Given the description of an element on the screen output the (x, y) to click on. 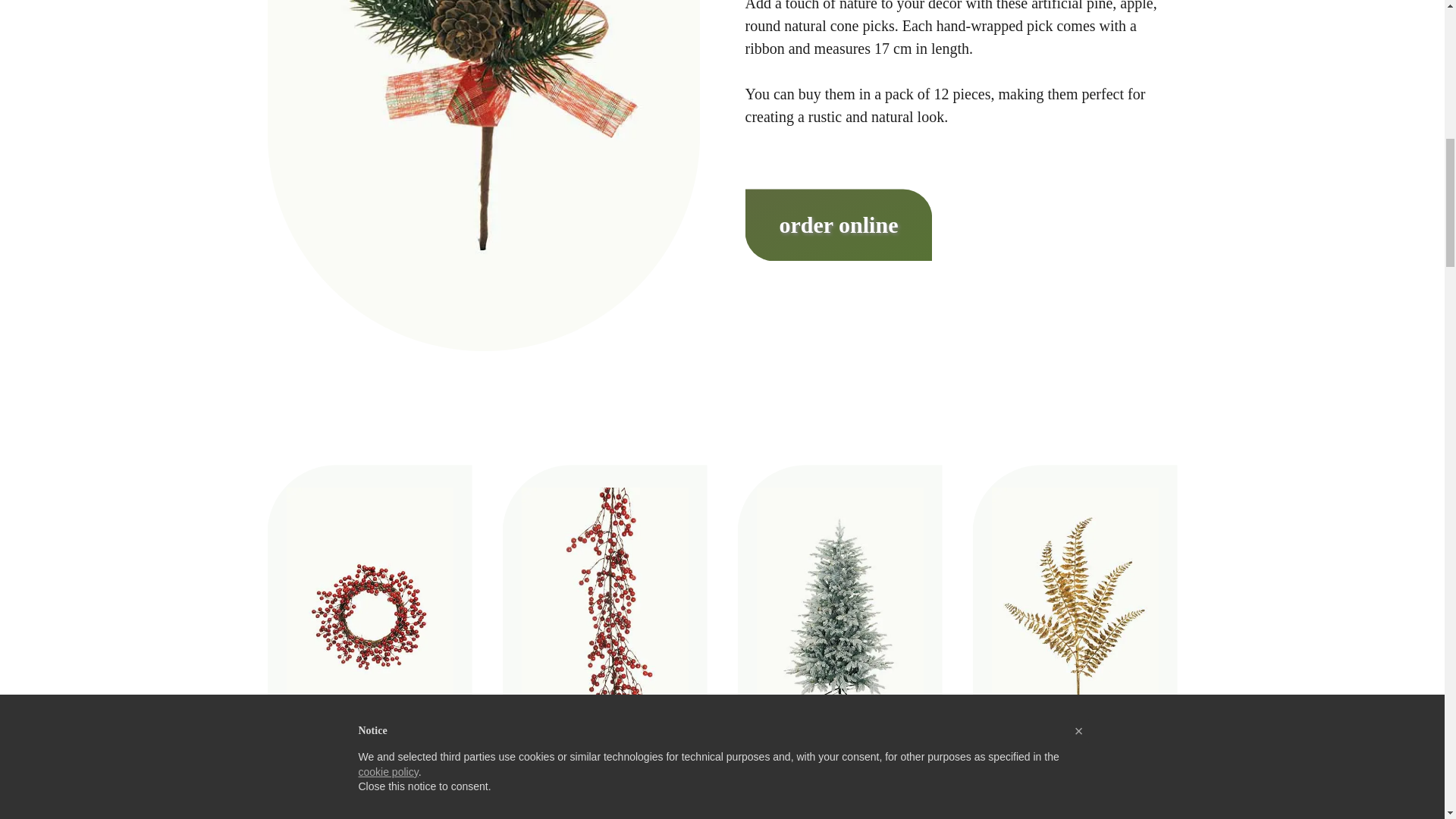
Artificial ilex berries wreath (359, 776)
Metallic plastic Fern spray (1064, 776)
Artificial ilex berries garland (595, 776)
Artificial Christmas tree with snow (828, 776)
order online (837, 227)
order online - go to ecommerce (837, 227)
